Given the description of an element on the screen output the (x, y) to click on. 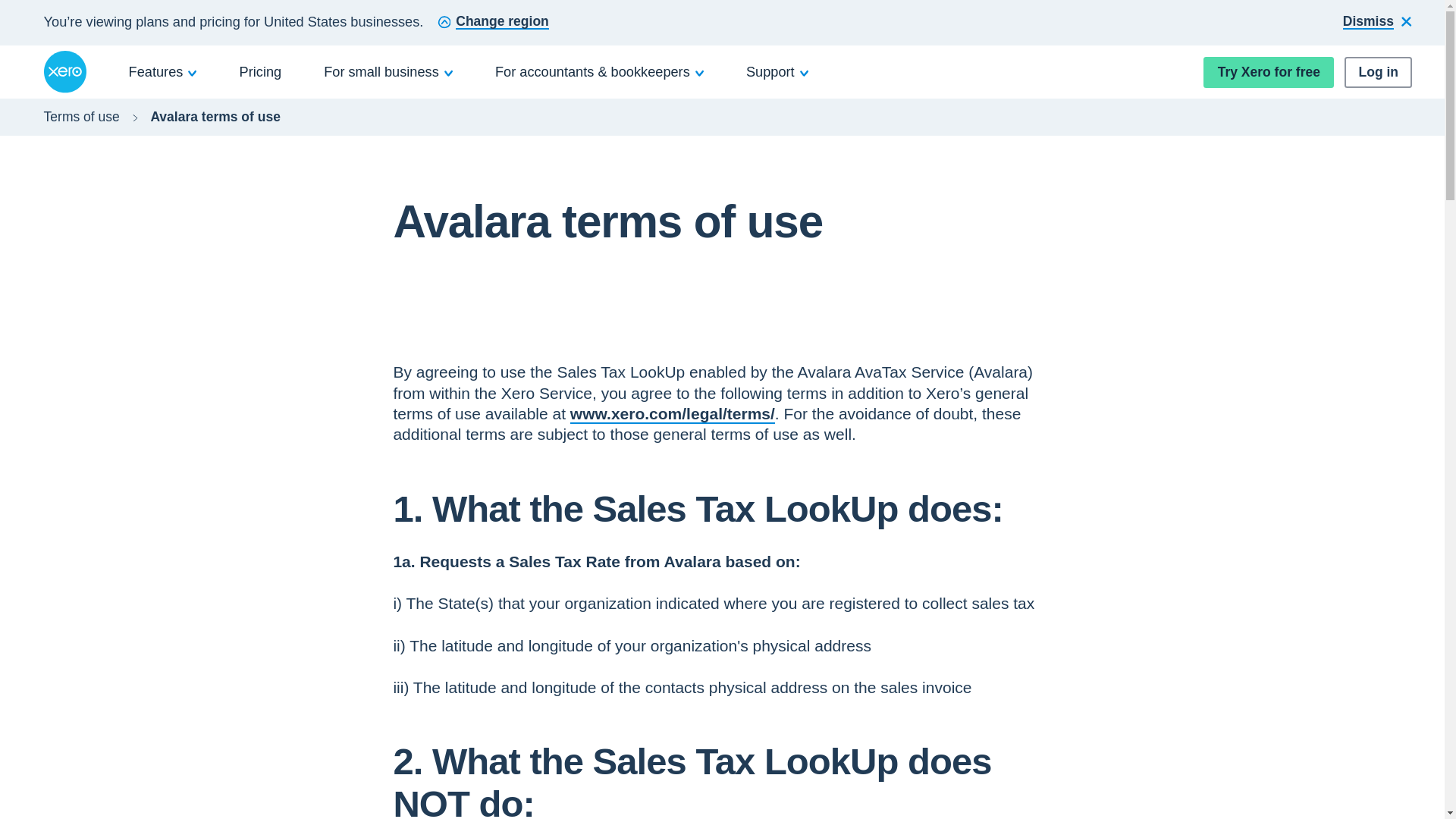
Try Xero for free (1268, 71)
Avalara terms of use (215, 116)
For small business (388, 71)
Pricing (260, 71)
Support (777, 71)
Dismiss (1377, 23)
Log in (1377, 71)
Features (162, 71)
Change region (493, 23)
Terms of use (81, 116)
